Given the description of an element on the screen output the (x, y) to click on. 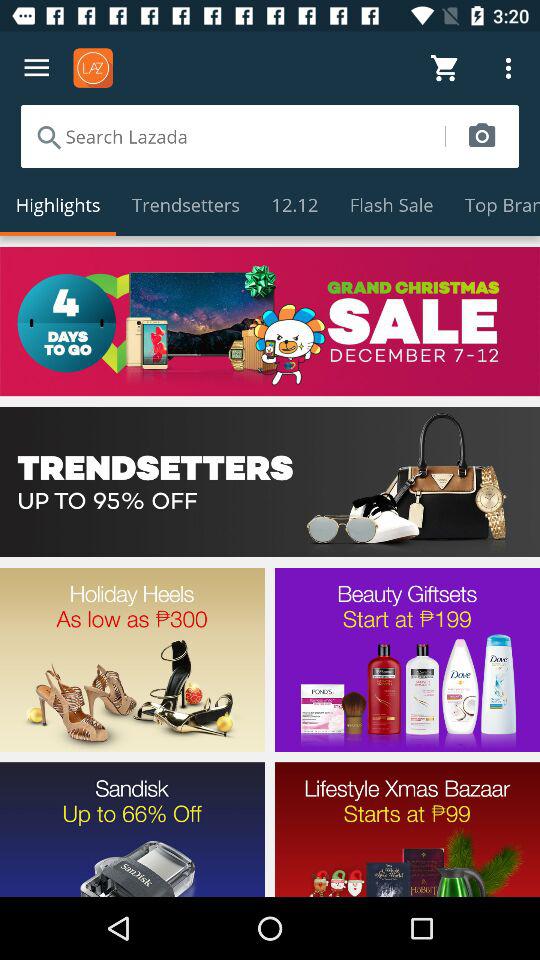
camera (482, 136)
